Given the description of an element on the screen output the (x, y) to click on. 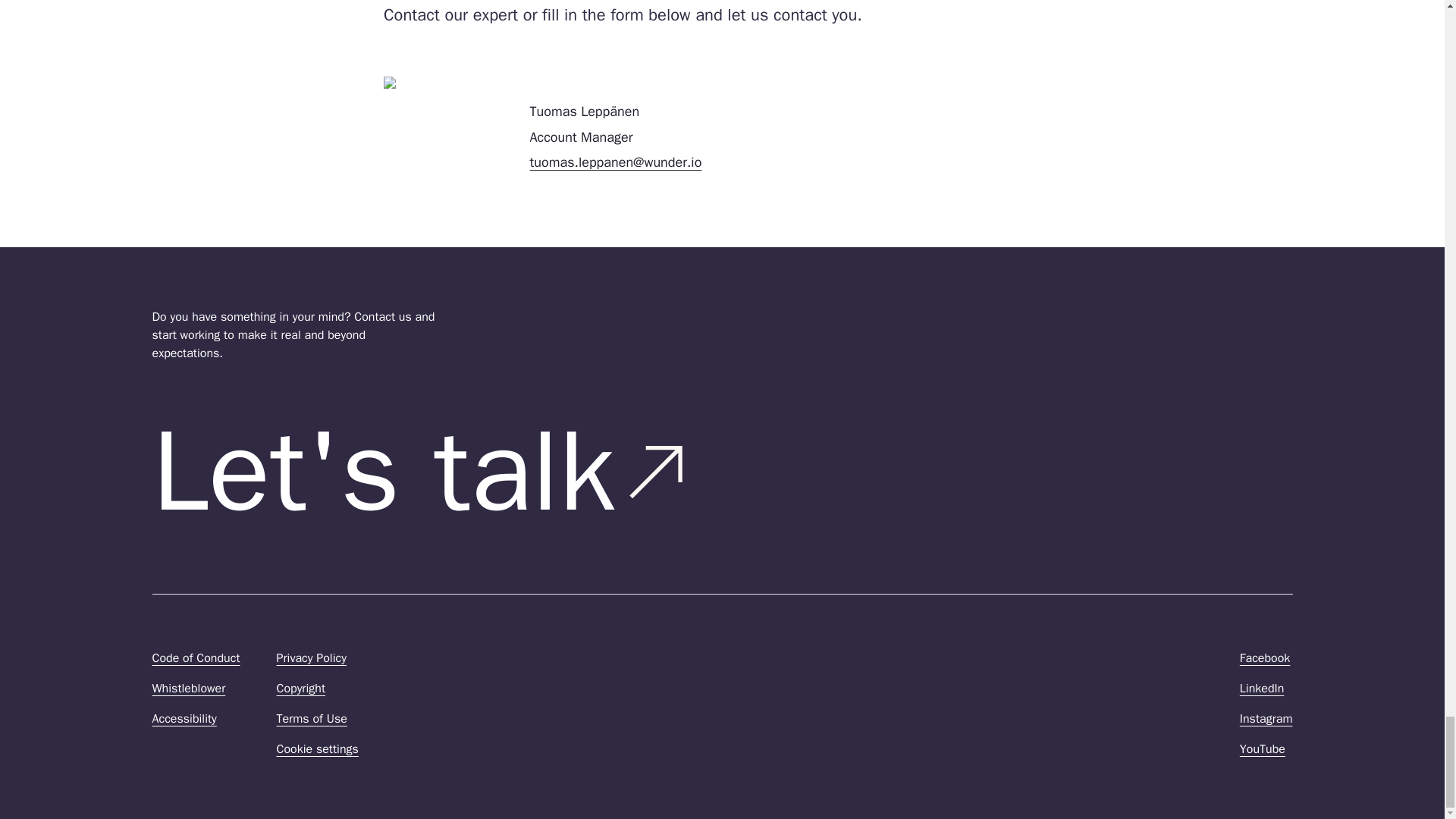
Privacy Policy (311, 657)
Copyright (300, 688)
Code of Conduct (195, 657)
Cookie settings (317, 749)
Whistleblower (188, 688)
YouTube (1262, 749)
Terms of Use (311, 718)
Instagram (1266, 718)
Accessibility (183, 718)
